Given the description of an element on the screen output the (x, y) to click on. 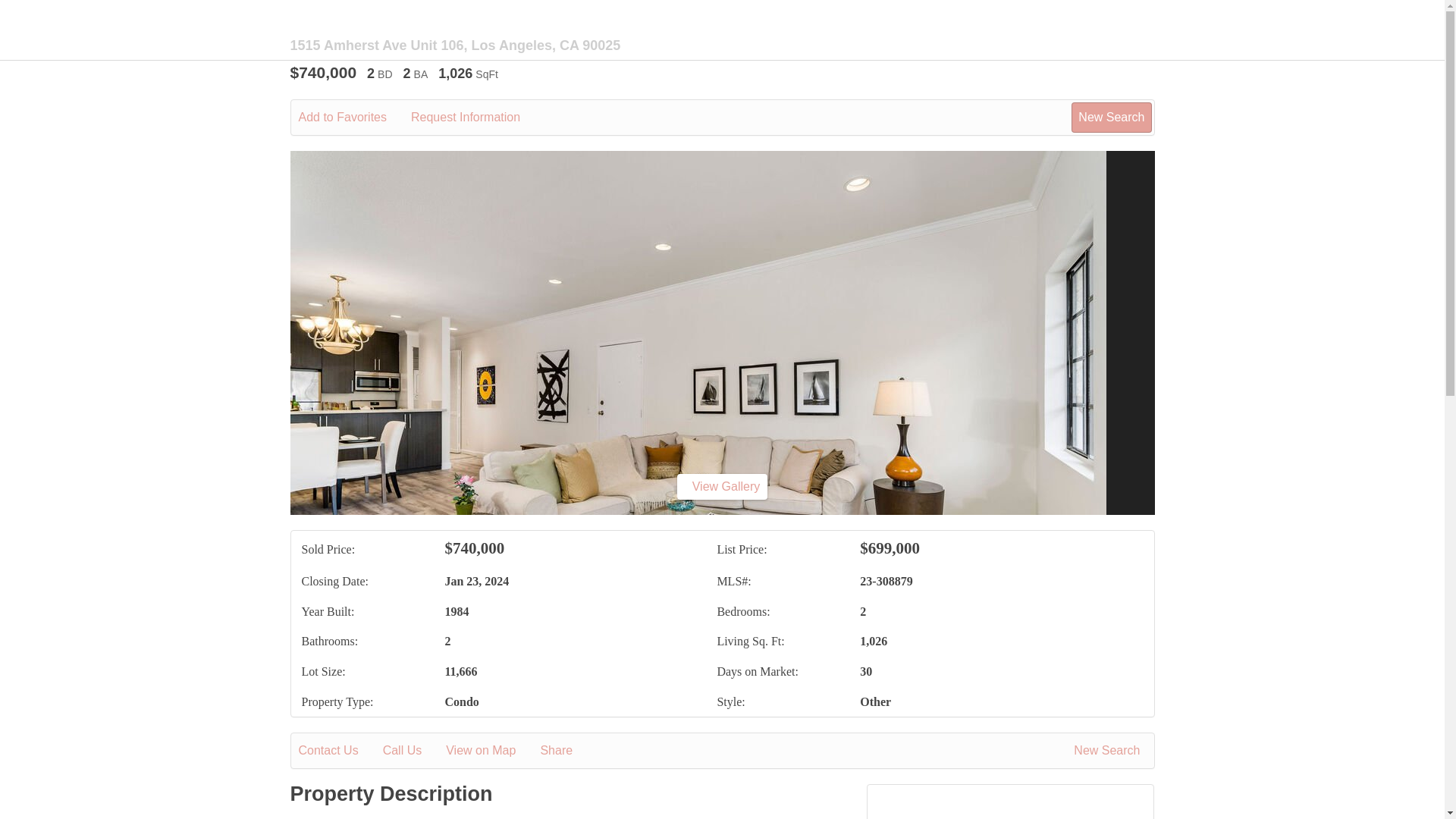
Share (567, 750)
Call Us (413, 750)
New Search (1111, 117)
View Gallery (722, 486)
Add to Favorites (353, 117)
310-299-2110 (1010, 816)
View Gallery (722, 486)
Request Information (475, 117)
Contact Us (339, 750)
New Search (1109, 750)
